Given the description of an element on the screen output the (x, y) to click on. 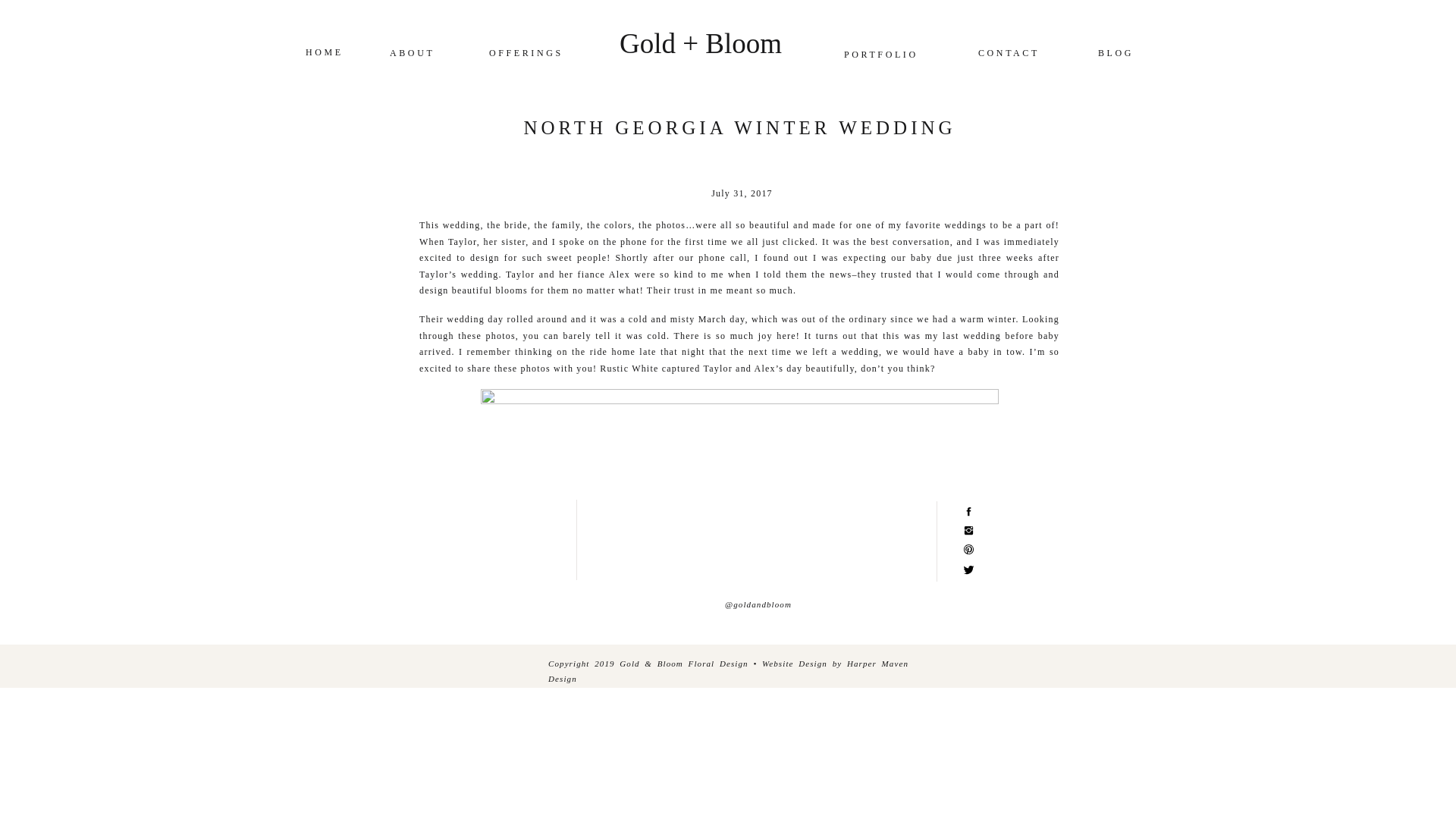
OFFERINGS (529, 54)
HOME (325, 53)
ABOUT (409, 54)
PORTFOLIO (863, 55)
CONTACT (1011, 54)
BLOG (1129, 54)
